Given the description of an element on the screen output the (x, y) to click on. 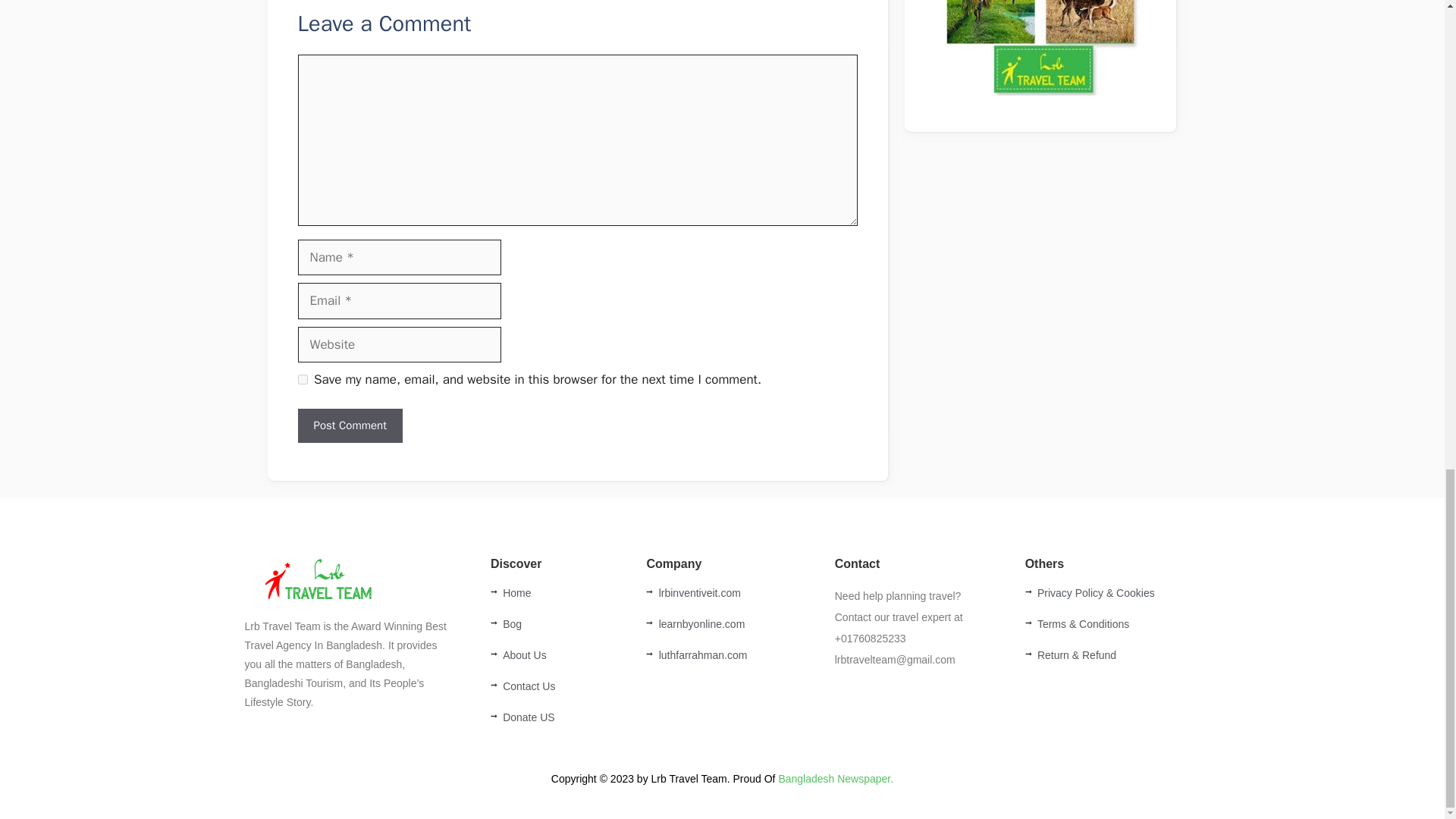
Post Comment (349, 425)
Scroll back to top (1406, 430)
Post Comment (349, 425)
Home (560, 593)
Bog (560, 624)
yes (302, 379)
